Given the description of an element on the screen output the (x, y) to click on. 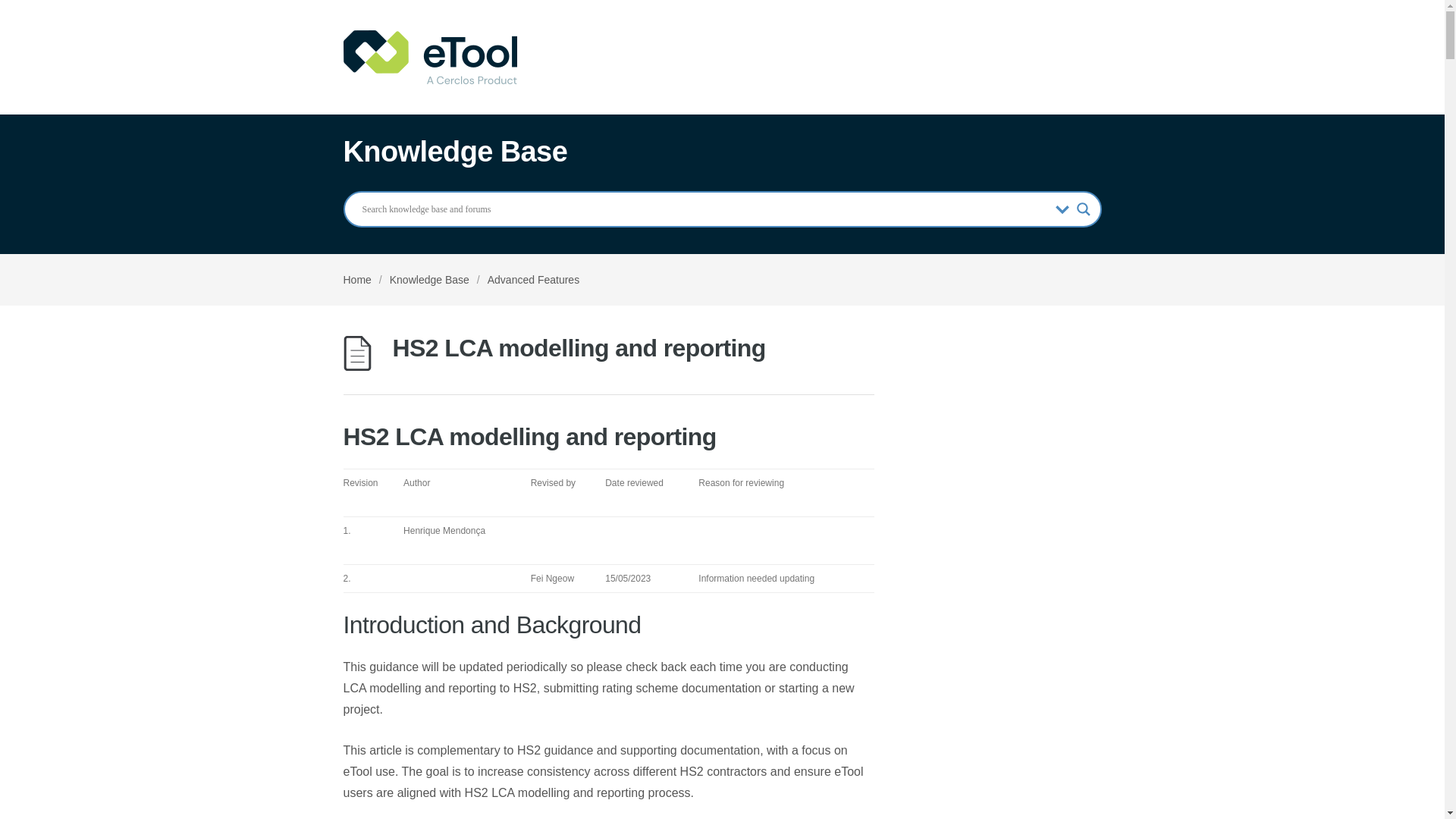
Home (356, 279)
Cerclos Support (429, 57)
Advanced Features (533, 279)
Knowledge Base (429, 279)
